Given the description of an element on the screen output the (x, y) to click on. 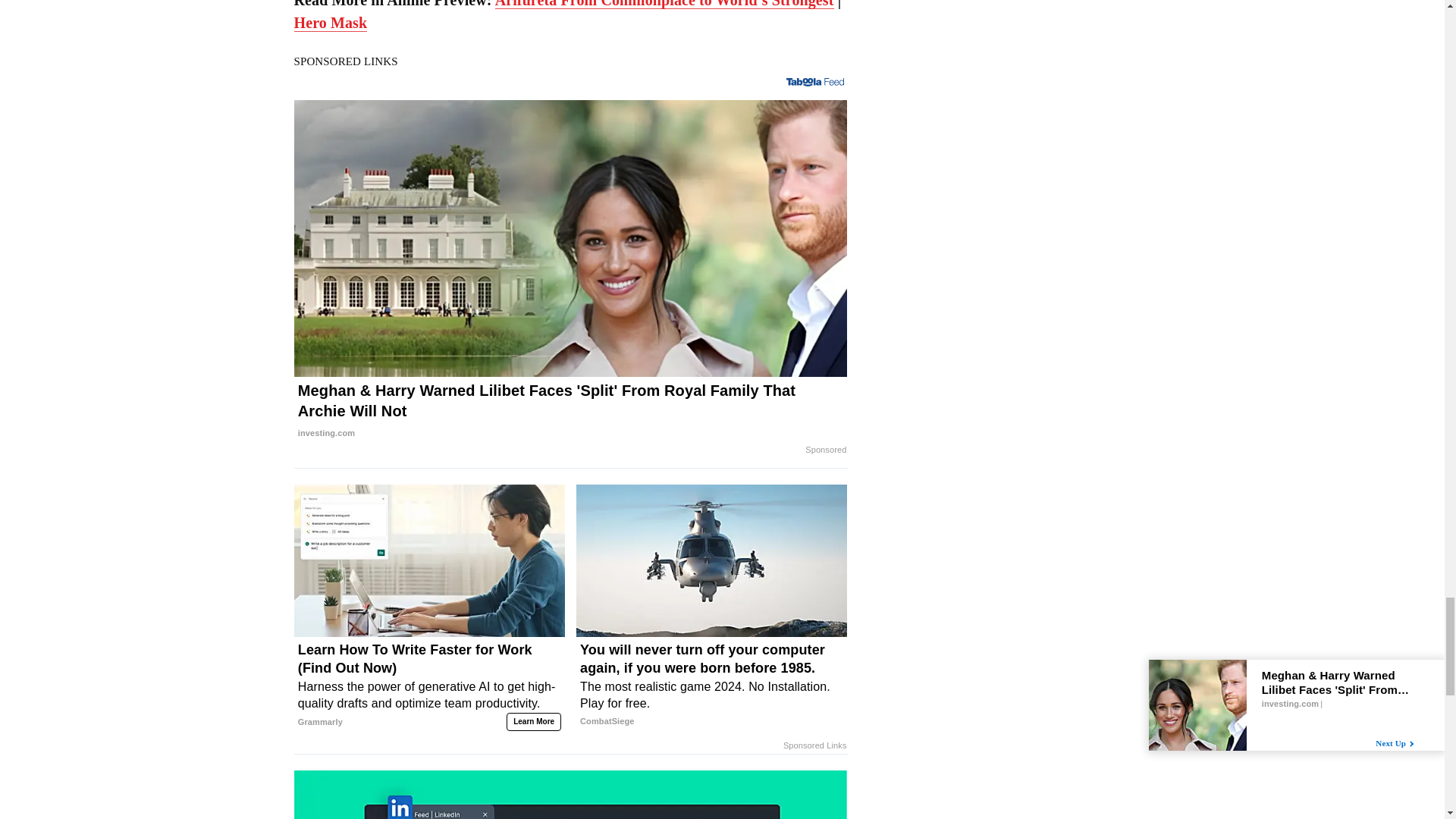
Hero Mask (331, 22)
